Given the description of an element on the screen output the (x, y) to click on. 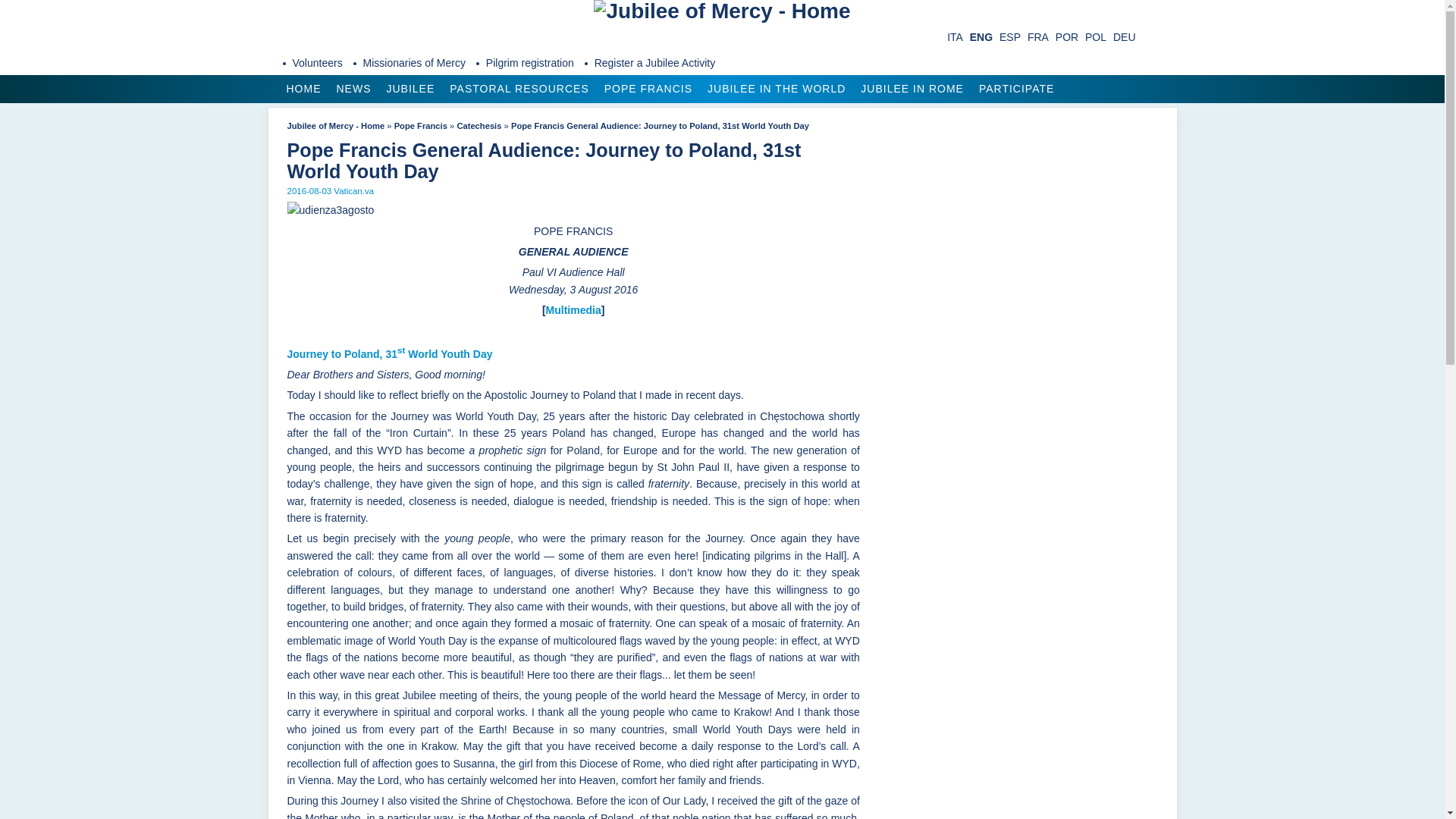
PASTORAL RESOURCES (518, 88)
POL (1095, 37)
Twitter (314, 36)
POR (1066, 37)
FRA (1037, 37)
HOME (304, 88)
DEU (1124, 37)
Pilgrim registration (530, 62)
Home (722, 11)
Register a Jubilee Activity (655, 62)
Youtube (387, 36)
ESP (1009, 37)
Missionaries of Mercy (415, 62)
udienza3agosto (330, 209)
ITA (954, 37)
